Given the description of an element on the screen output the (x, y) to click on. 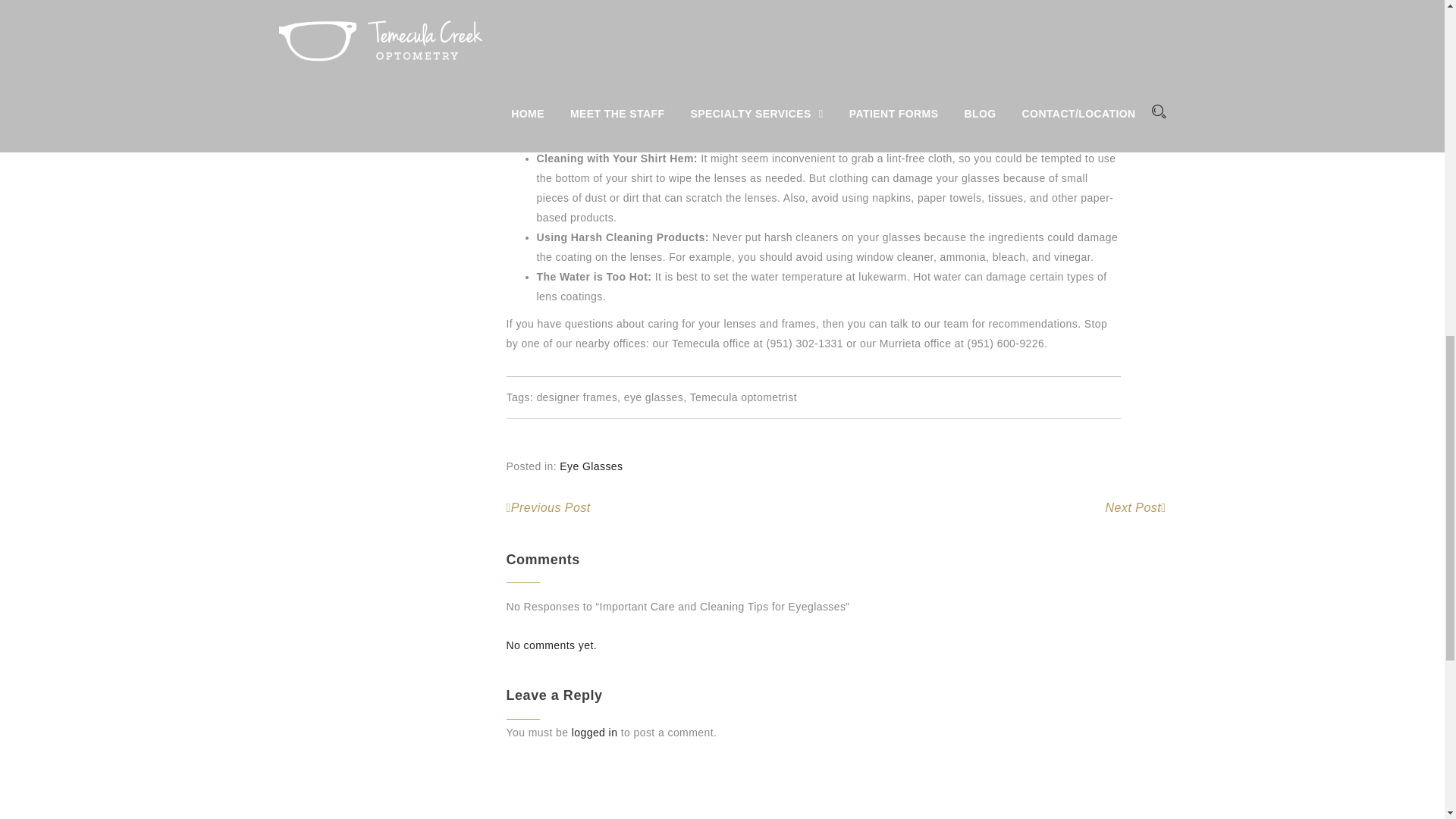
eye glasses (654, 397)
designer frames (576, 397)
Previous Post (548, 507)
Tips to Help a Child Adjust to Wearing Glasses (548, 507)
logged in (594, 732)
Next Post (1135, 507)
Eye Glasses (591, 466)
Read more (405, 52)
Progressive vs. Bifocals: Choosing the Right Lenses (1135, 507)
Temecula optometrist (743, 397)
